Given the description of an element on the screen output the (x, y) to click on. 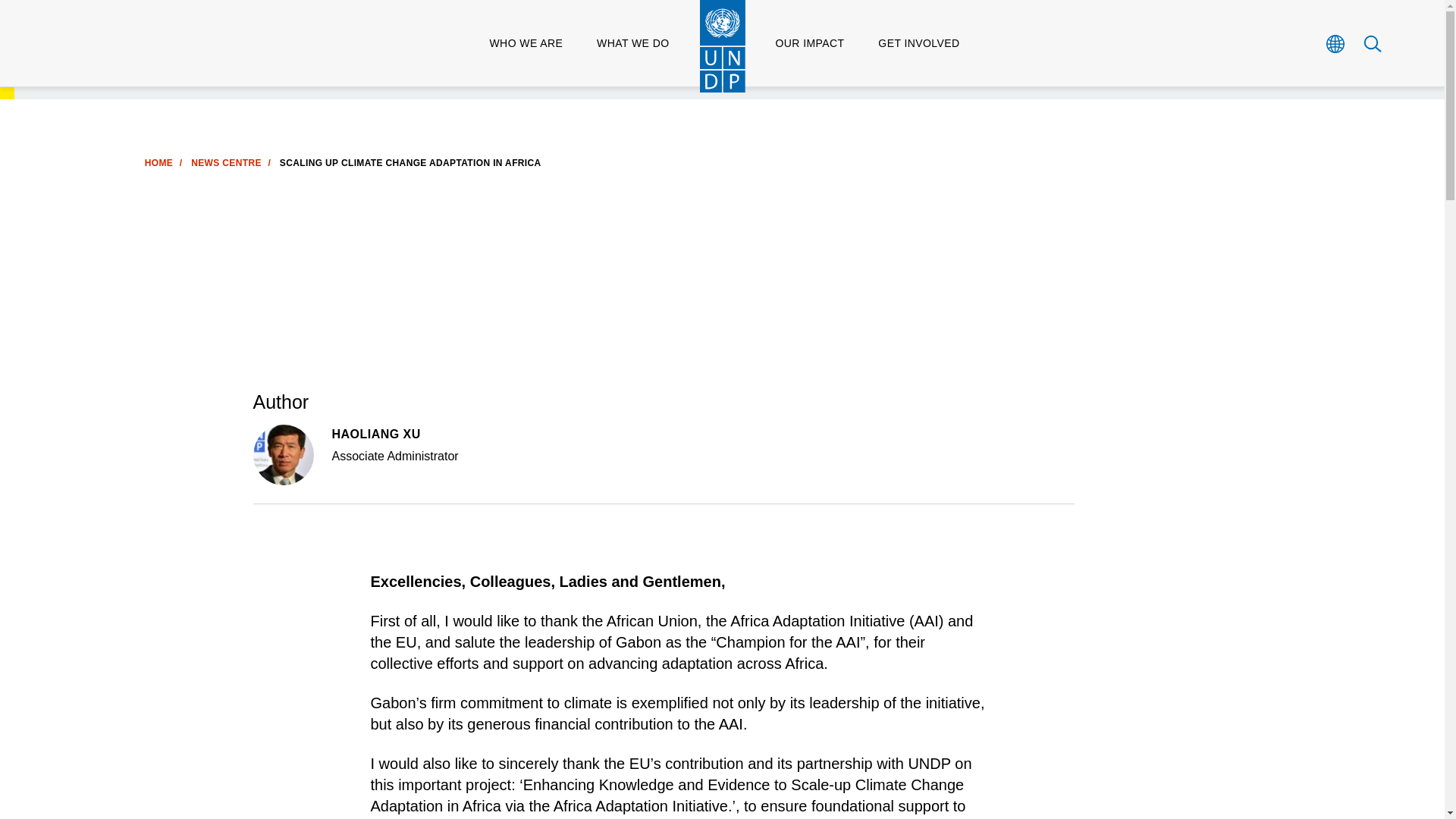
Search (1371, 43)
Global (1335, 43)
GET INVOLVED (918, 43)
